Given the description of an element on the screen output the (x, y) to click on. 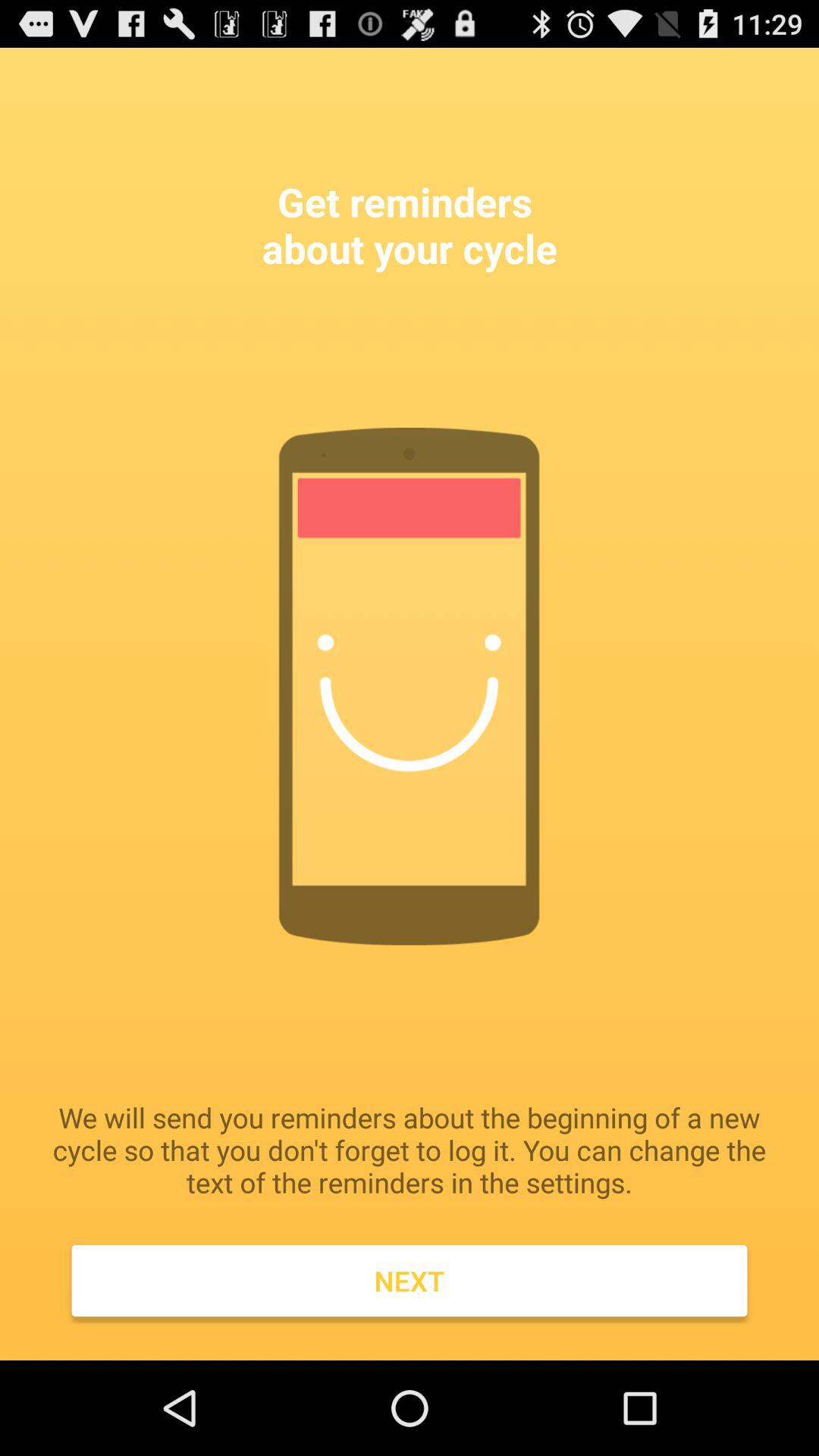
flip until next item (409, 1280)
